Given the description of an element on the screen output the (x, y) to click on. 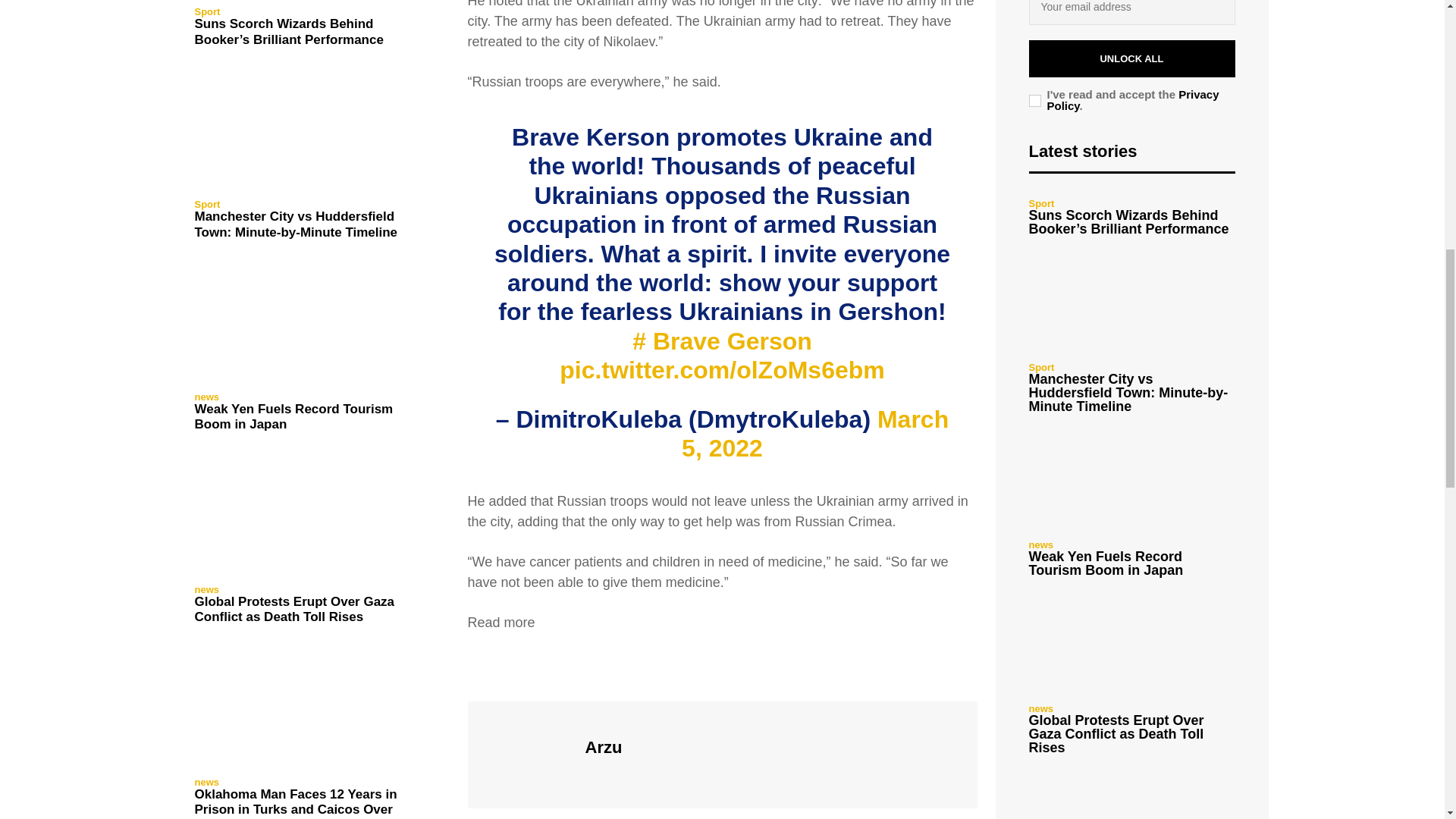
Sport (206, 11)
